Given the description of an element on the screen output the (x, y) to click on. 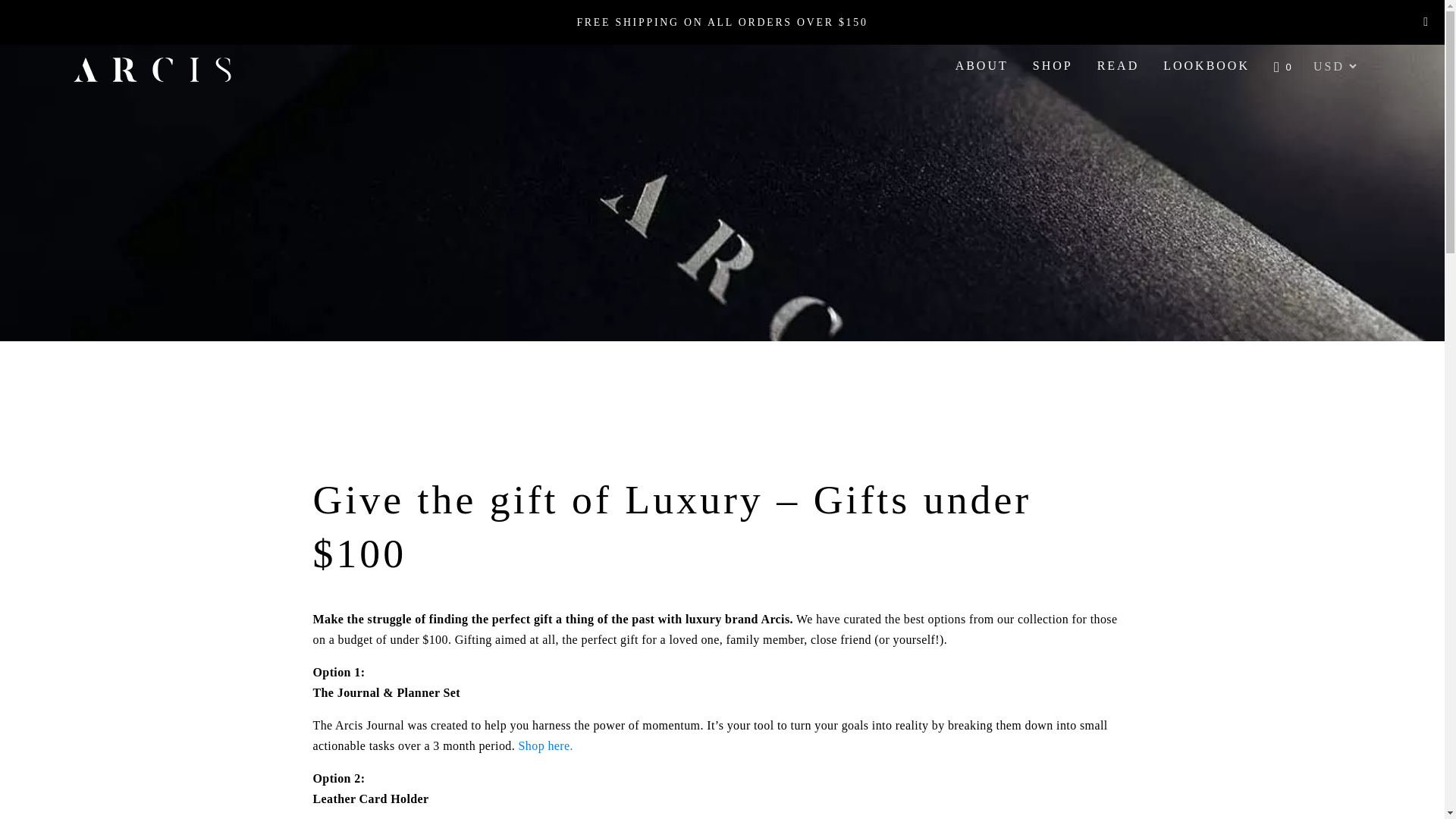
ABOUT (981, 65)
SHOP (1052, 65)
Shop here. (545, 745)
READ (1117, 65)
LOOKBOOK (1206, 65)
